Given the description of an element on the screen output the (x, y) to click on. 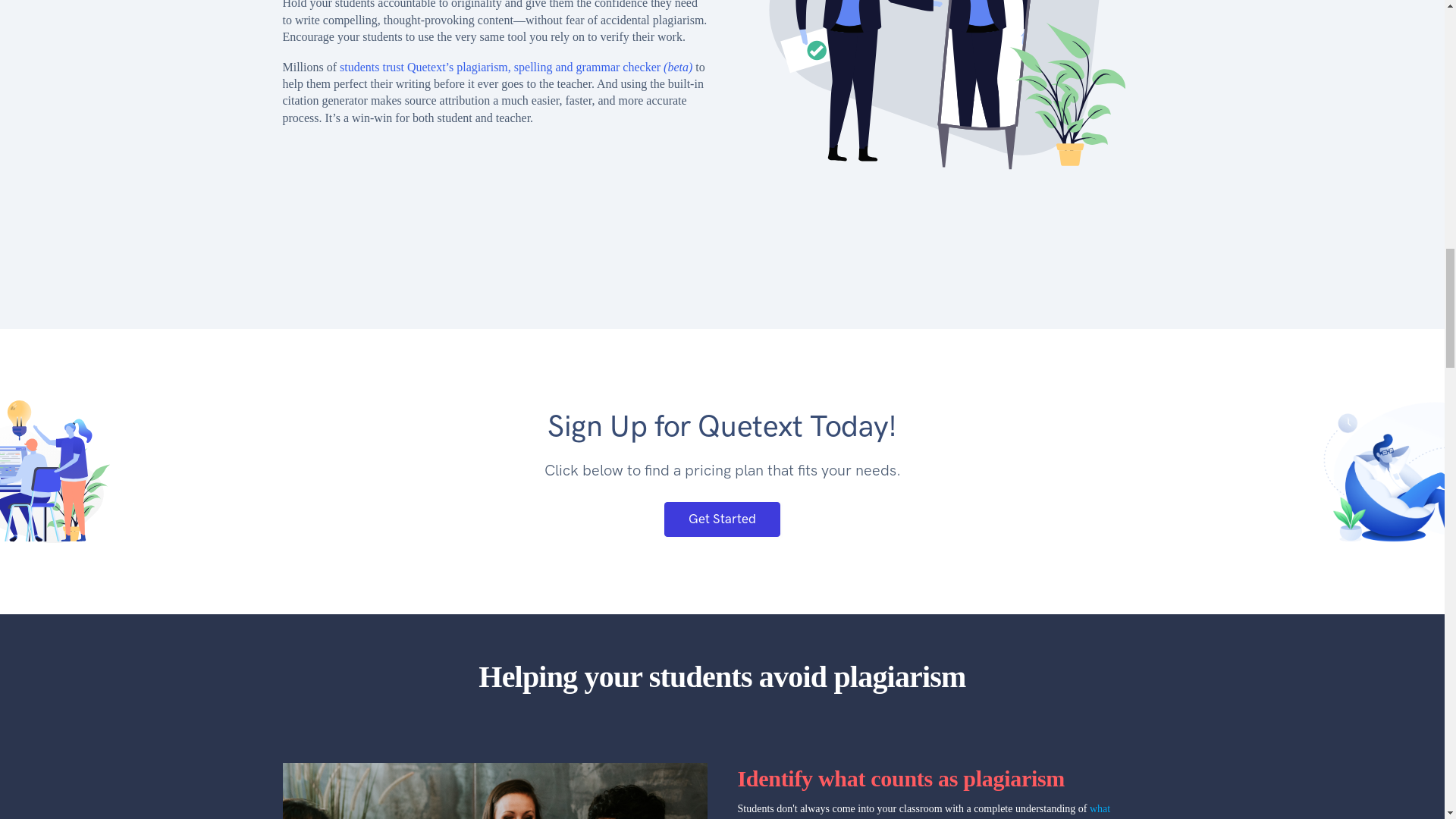
what counts as plagiarism. (922, 811)
Get Started (720, 519)
